Given the description of an element on the screen output the (x, y) to click on. 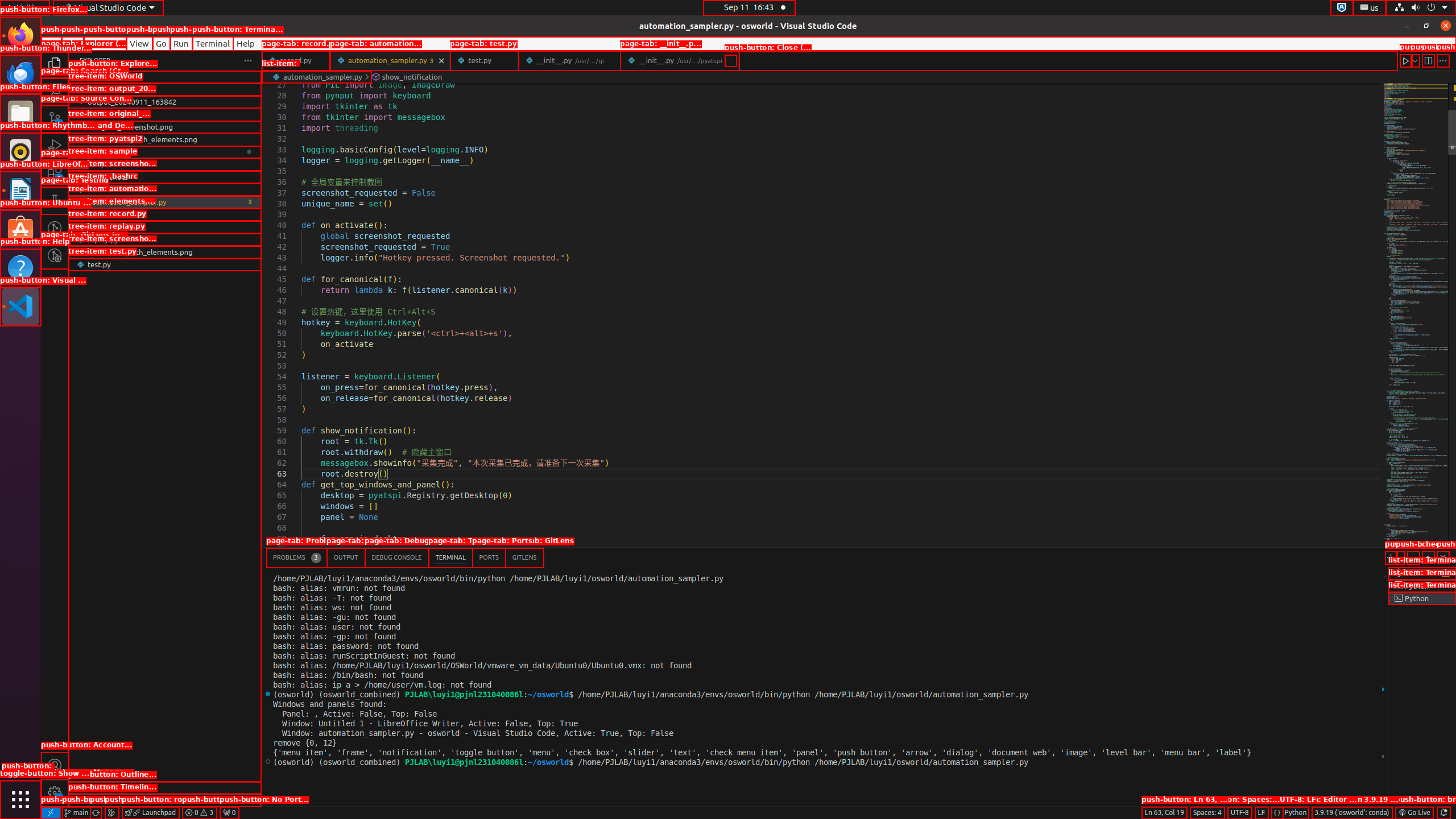
Close (Ctrl+W) Element type: push-button (730, 60)
record.py Element type: tree-item (164, 226)
Edit Element type: push-button (72, 43)
Ln 63, Col 19 Element type: push-button (1163, 812)
GitLens Inspect Element type: page-tab (54, 255)
